Given the description of an element on the screen output the (x, y) to click on. 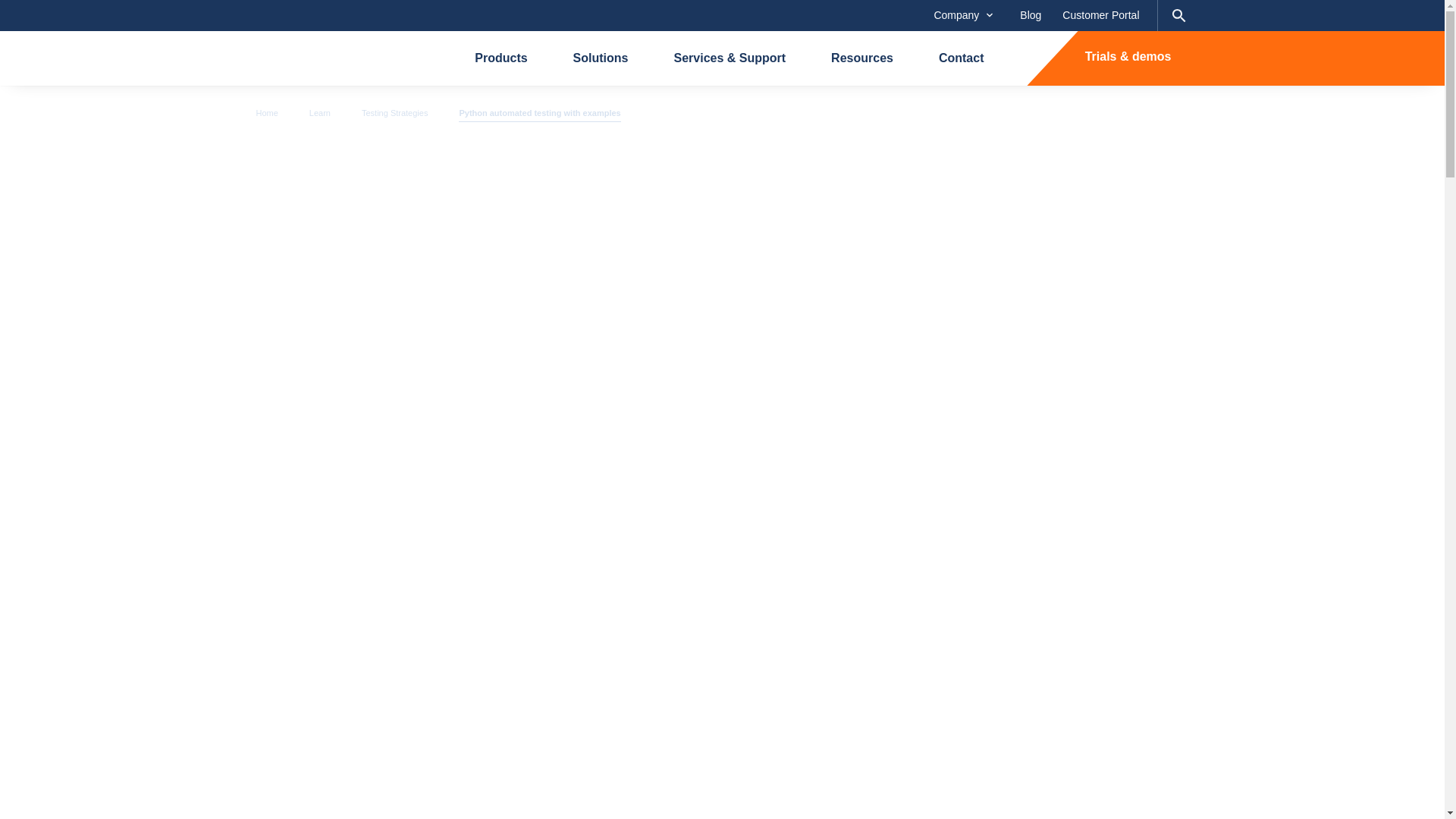
Blog (1030, 15)
Customer Portal (1100, 15)
Company (962, 14)
